Given the description of an element on the screen output the (x, y) to click on. 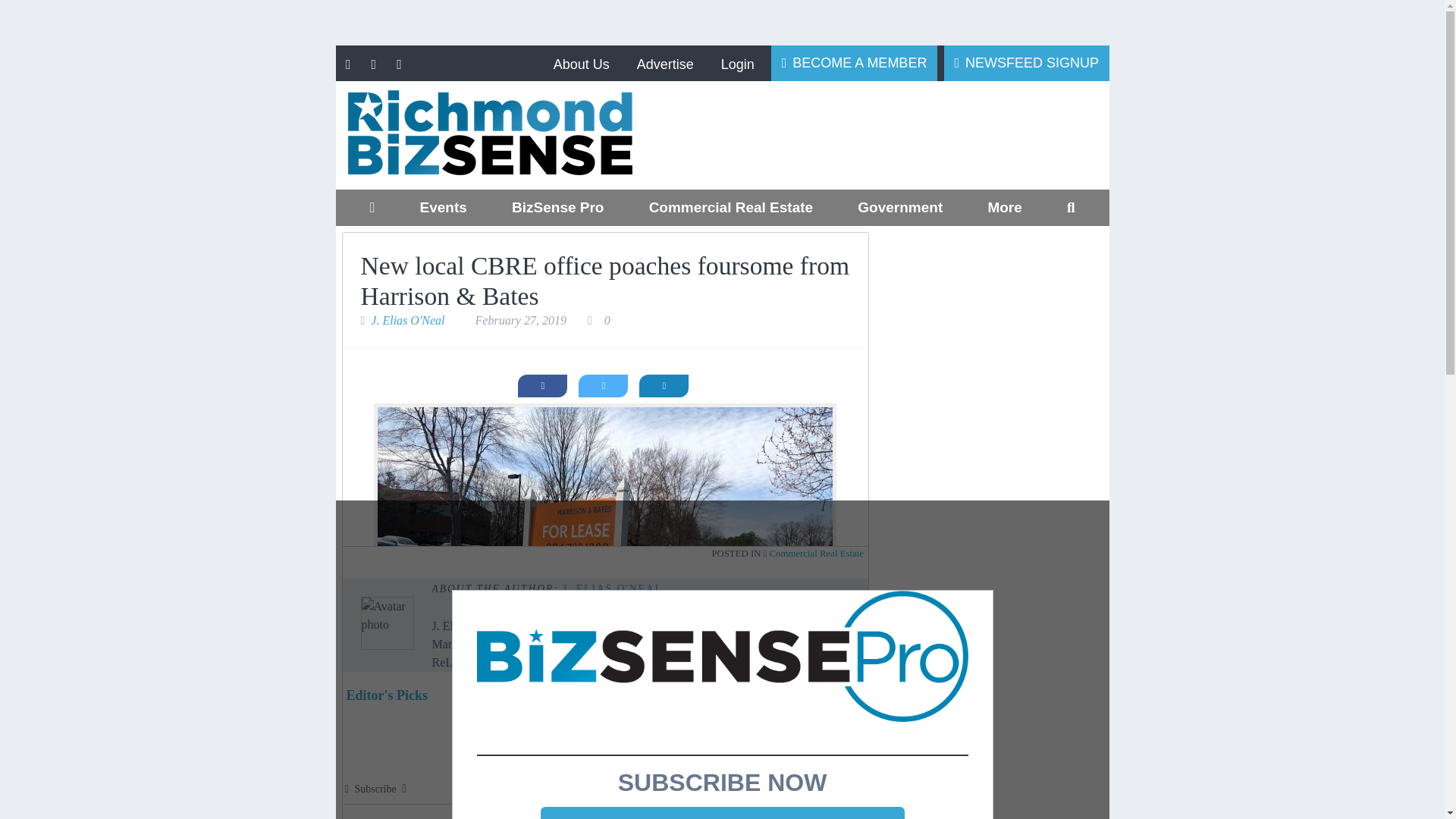
Posts by J. Elias O'Neal (612, 588)
Advertise (664, 63)
Government (900, 207)
More (1004, 207)
BECOME A MEMBER (854, 62)
BizSense Pro (557, 207)
NEWSFEED SIGNUP (1026, 62)
About Us (581, 63)
Commercial Real Estate (730, 207)
Events (443, 207)
Login (737, 63)
